Given the description of an element on the screen output the (x, y) to click on. 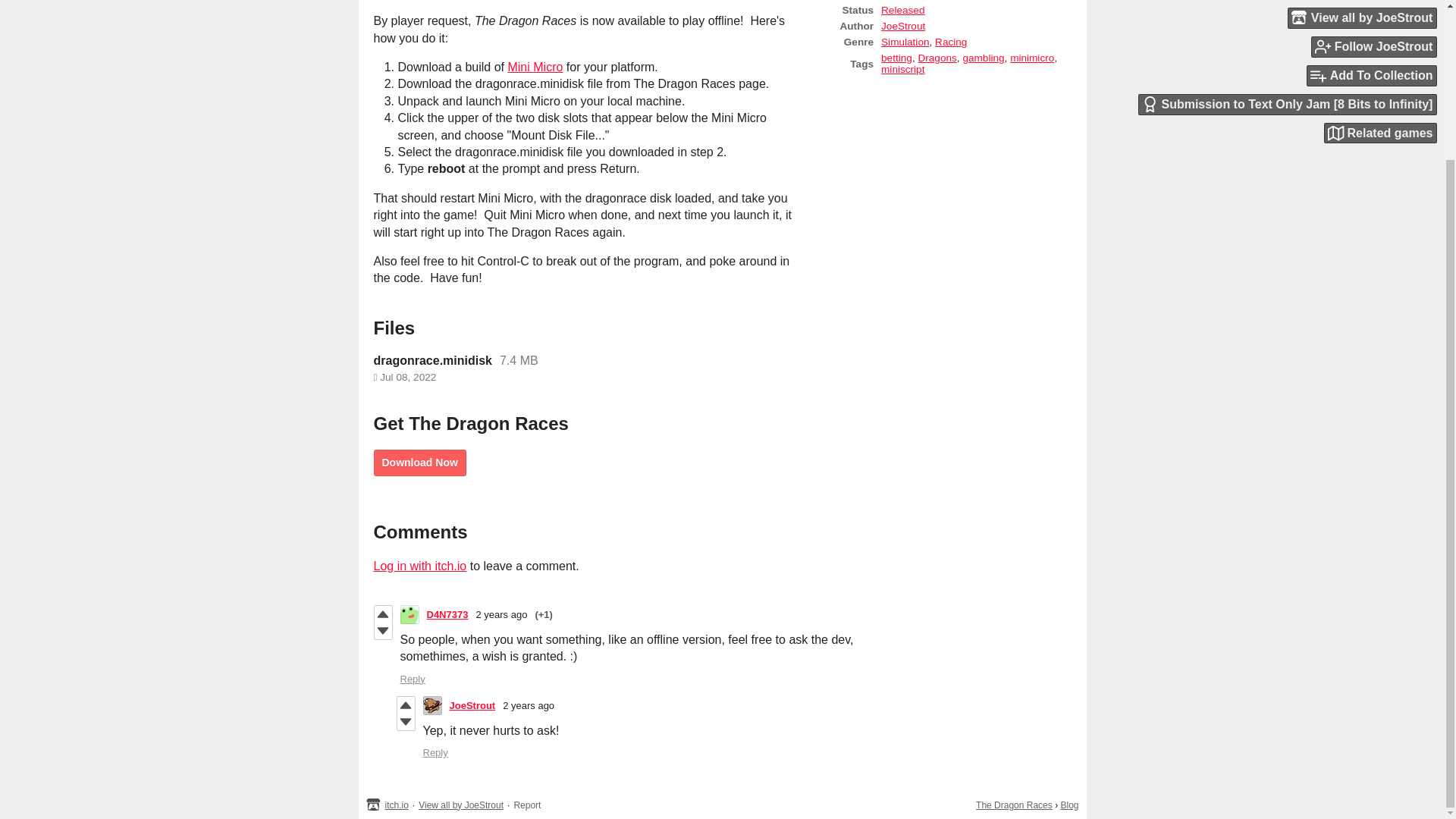
Download Now (418, 462)
miniscript (902, 69)
Released (902, 9)
Mini Micro (534, 66)
Dragons (936, 57)
betting (896, 57)
minimicro (1032, 57)
JoeStrout (471, 705)
2 years ago (528, 705)
Vote up (405, 704)
